Given the description of an element on the screen output the (x, y) to click on. 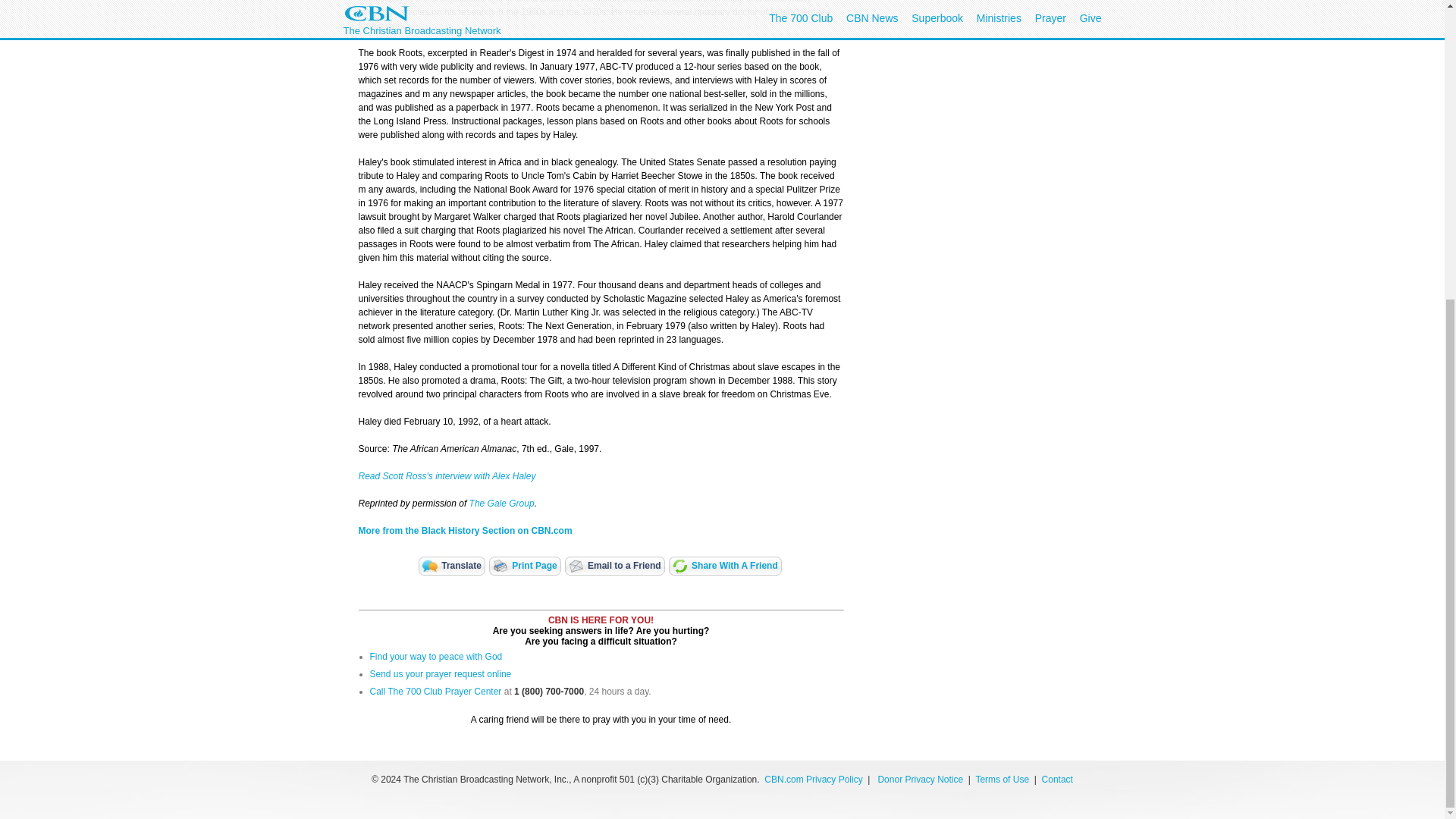
Find your way to peace with God (435, 656)
Read Scott Ross's interview with Alex Haley (446, 475)
Call The 700 Club Prayer Center (435, 691)
Share With A Friend (724, 565)
Email to a Friend (614, 565)
Translate (451, 565)
The Gale Group (501, 502)
Print Page (524, 565)
Send us your prayer request online (440, 674)
More from the Black History Section on CBN.com (465, 530)
